Given the description of an element on the screen output the (x, y) to click on. 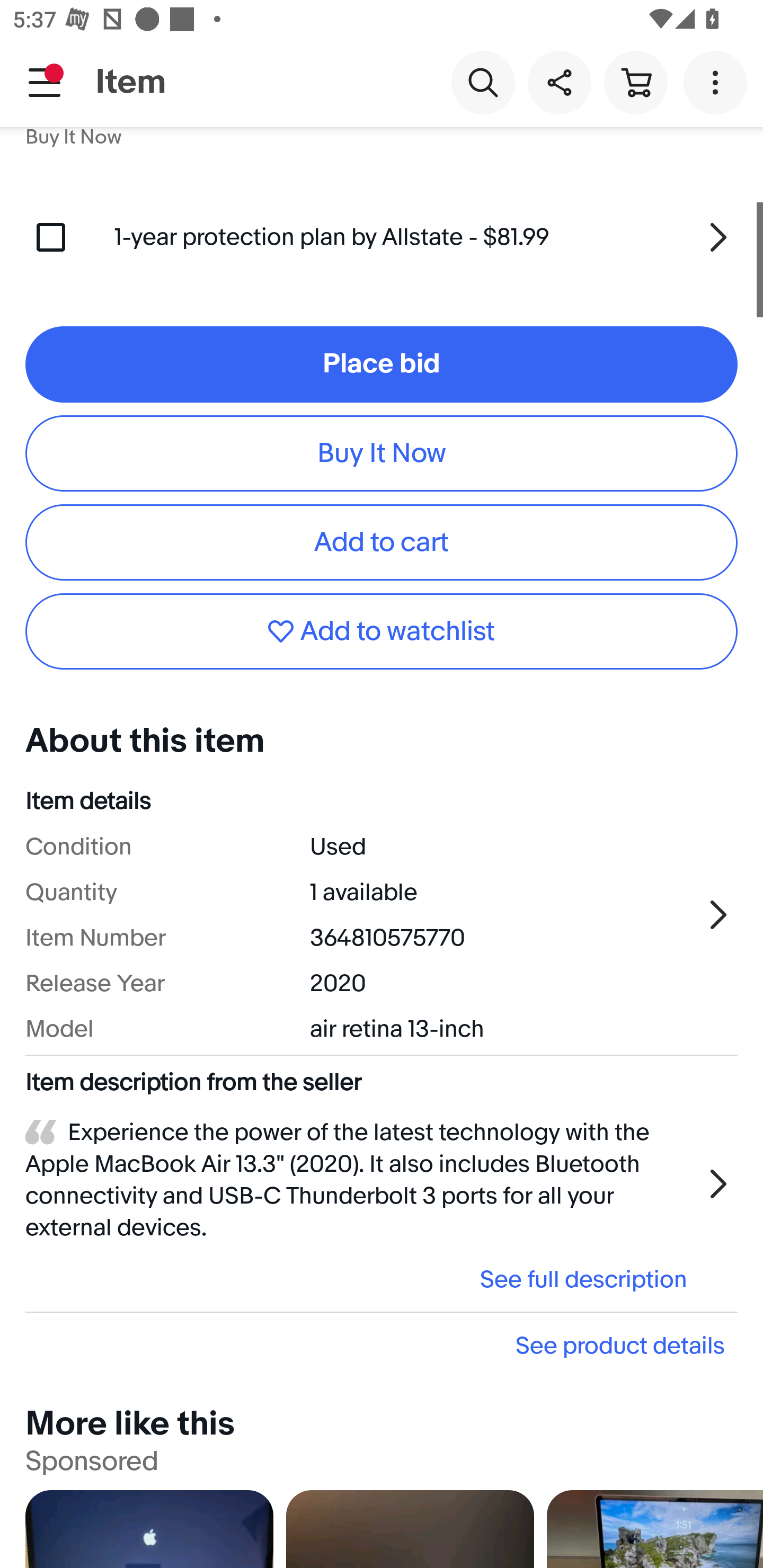
Main navigation, notification is pending, open (44, 82)
Search (482, 81)
Share this item (559, 81)
Cart button shopping cart (635, 81)
More options (718, 81)
1-year protection plan by Allstate - $81.99 (425, 237)
Place bid (381, 364)
Buy It Now (381, 453)
Add to cart (381, 542)
Add to watchlist (381, 630)
See full description (362, 1278)
See product details (381, 1345)
